Given the description of an element on the screen output the (x, y) to click on. 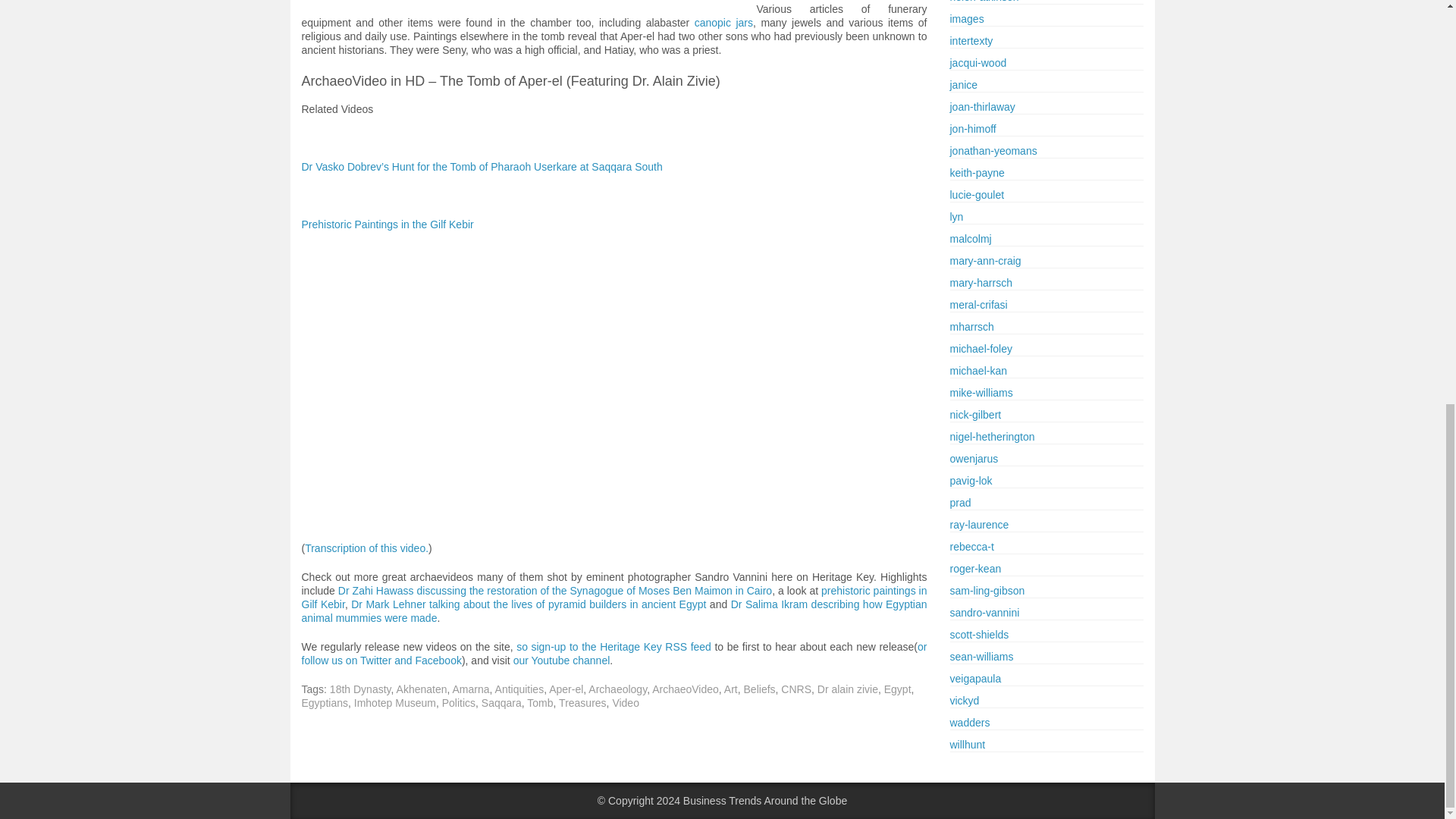
Antiquities (519, 689)
Art (730, 689)
our Youtube channel (561, 660)
Aper-el (565, 689)
Egypt (897, 689)
or follow us on Twitter and Facebook (614, 653)
Antiquities (519, 689)
prehistoric paintings in Gilf Kebir (614, 597)
Egyptians (324, 702)
Akhenaten (421, 689)
18th Dynasty (360, 689)
Amarna (470, 689)
ArchaeoVideo (685, 689)
18th Dynasty (360, 689)
